Given the description of an element on the screen output the (x, y) to click on. 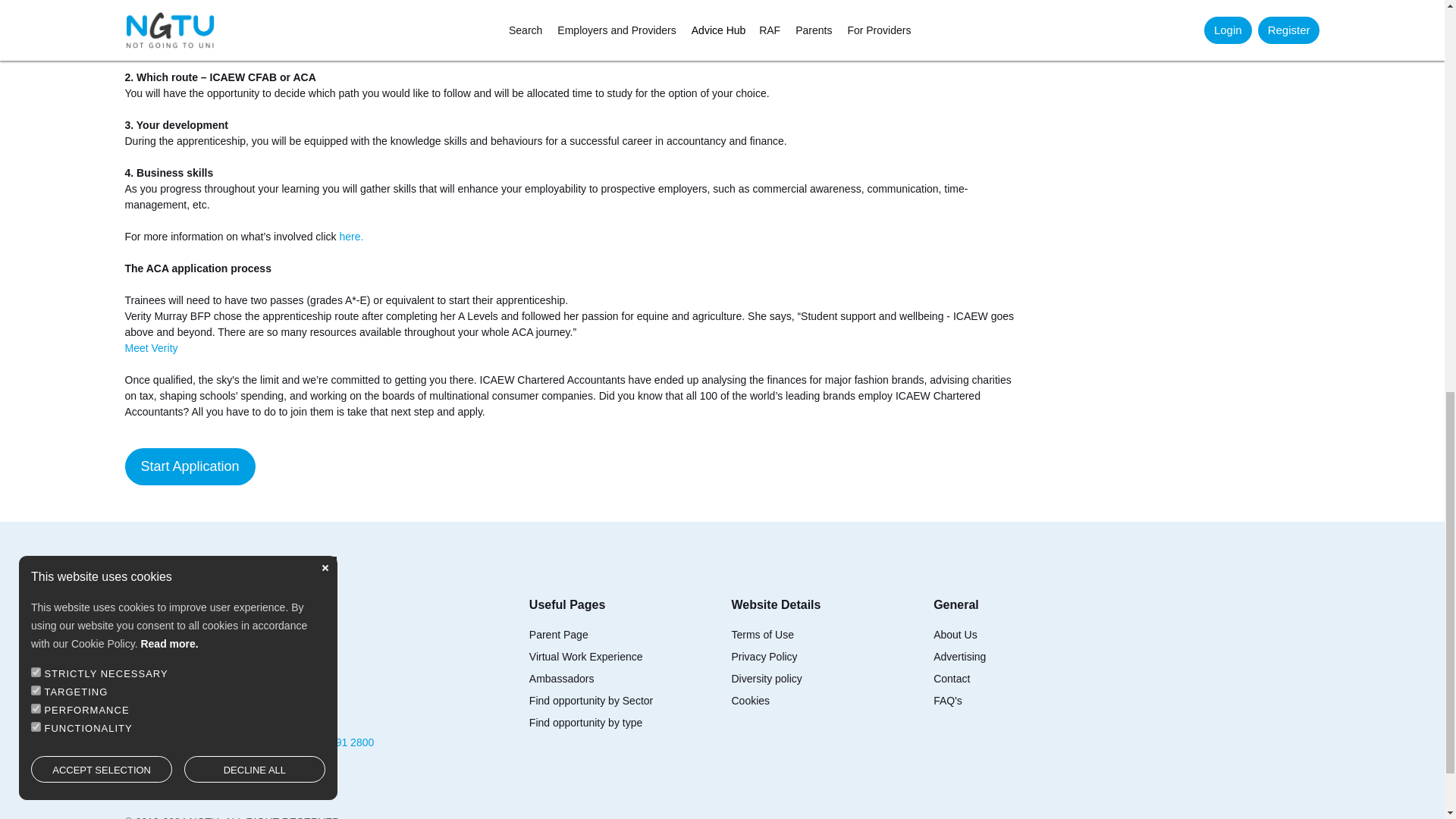
Start Application (188, 466)
here. (350, 236)
Meet Verity (150, 347)
